Given the description of an element on the screen output the (x, y) to click on. 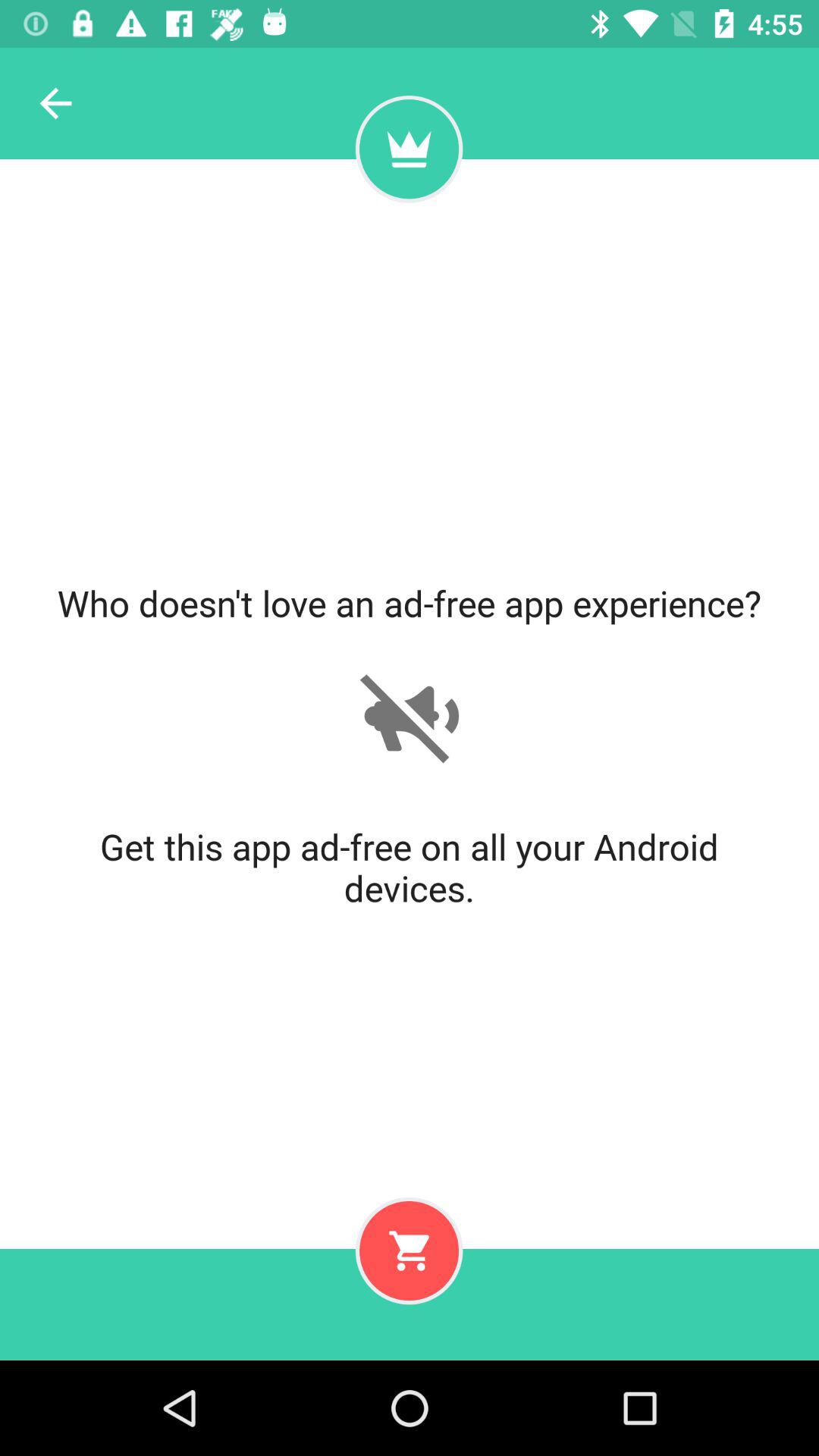
add to cart (408, 1250)
